Given the description of an element on the screen output the (x, y) to click on. 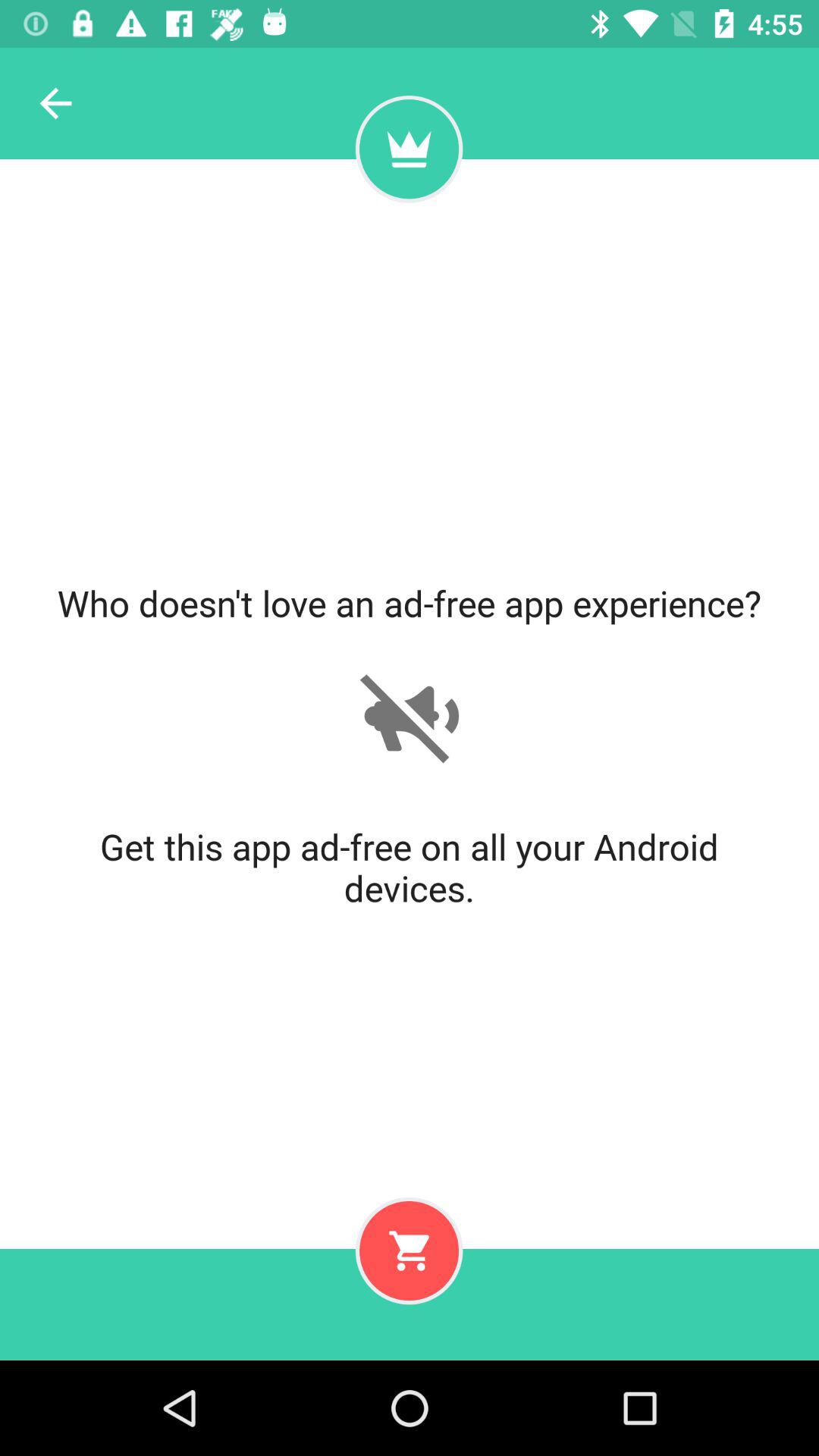
add to cart (408, 1250)
